Given the description of an element on the screen output the (x, y) to click on. 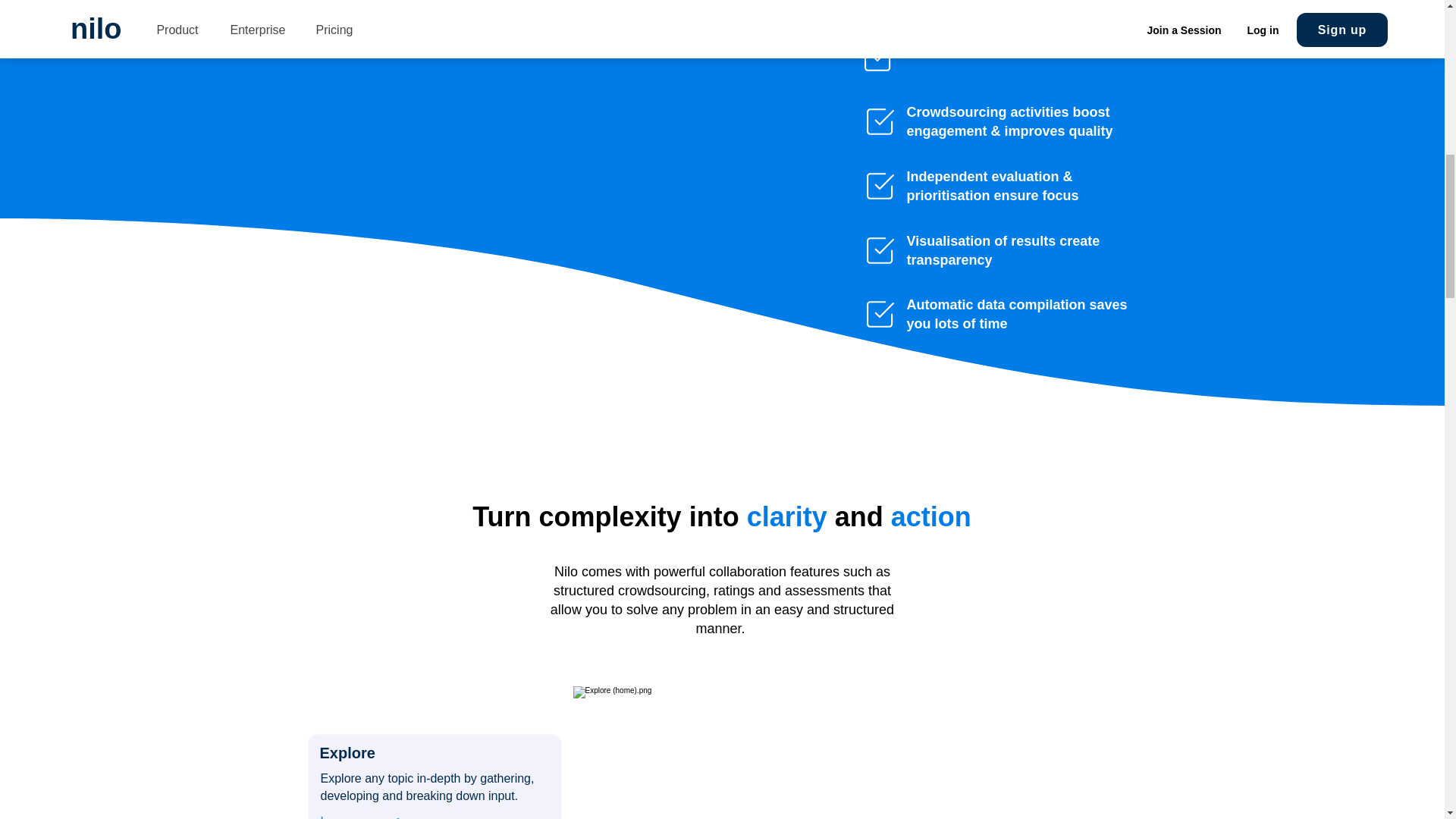
Learn more (366, 811)
